Given the description of an element on the screen output the (x, y) to click on. 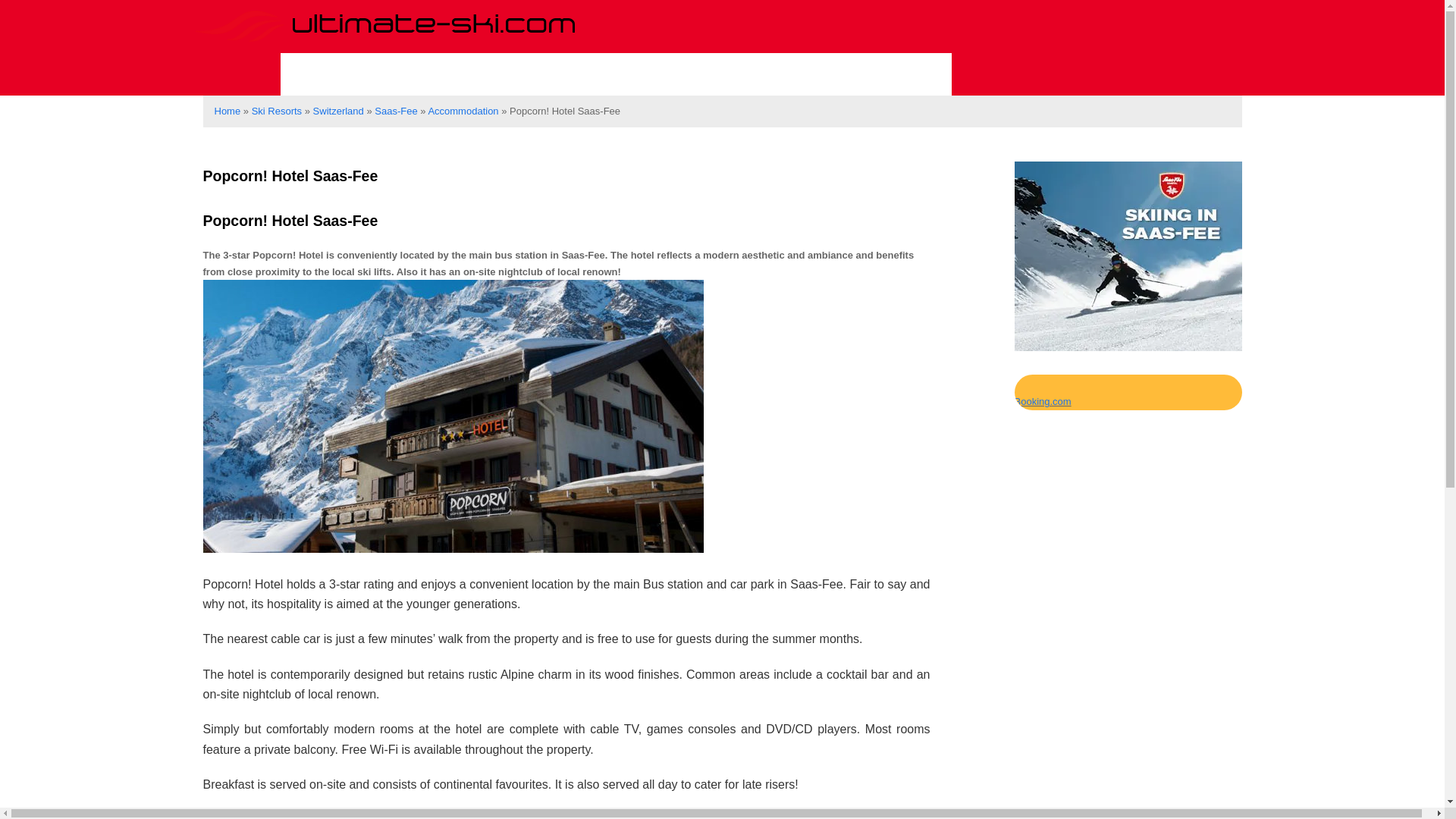
Ski Resorts (276, 111)
Features (729, 74)
Ski Rental (615, 74)
Saas-Fee (395, 111)
Booking.com (1042, 401)
Ski Resorts (351, 74)
Home (227, 111)
Accommodation (867, 74)
Ski Lessons (489, 74)
